Given the description of an element on the screen output the (x, y) to click on. 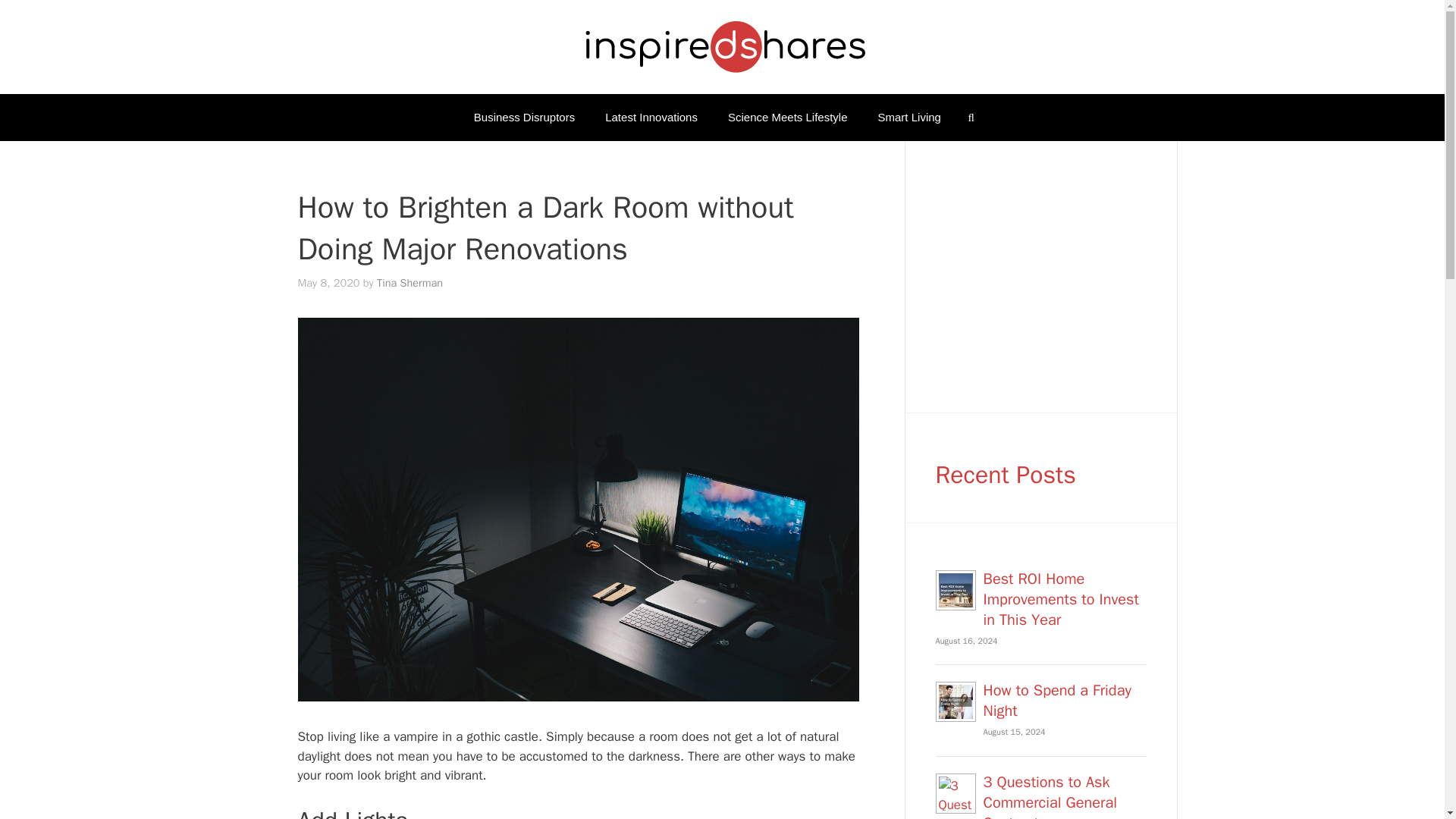
Latest Innovations (651, 117)
Tina Sherman (409, 282)
How to Spend a Friday Night (1056, 700)
View all posts by Tina Sherman (409, 282)
Business Disruptors (523, 117)
3 Questions to Ask Commercial General Contractors (1049, 795)
Smart Living (909, 117)
Best ROI Home Improvements to Invest in This Year (1060, 598)
Science Meets Lifestyle (788, 117)
